Given the description of an element on the screen output the (x, y) to click on. 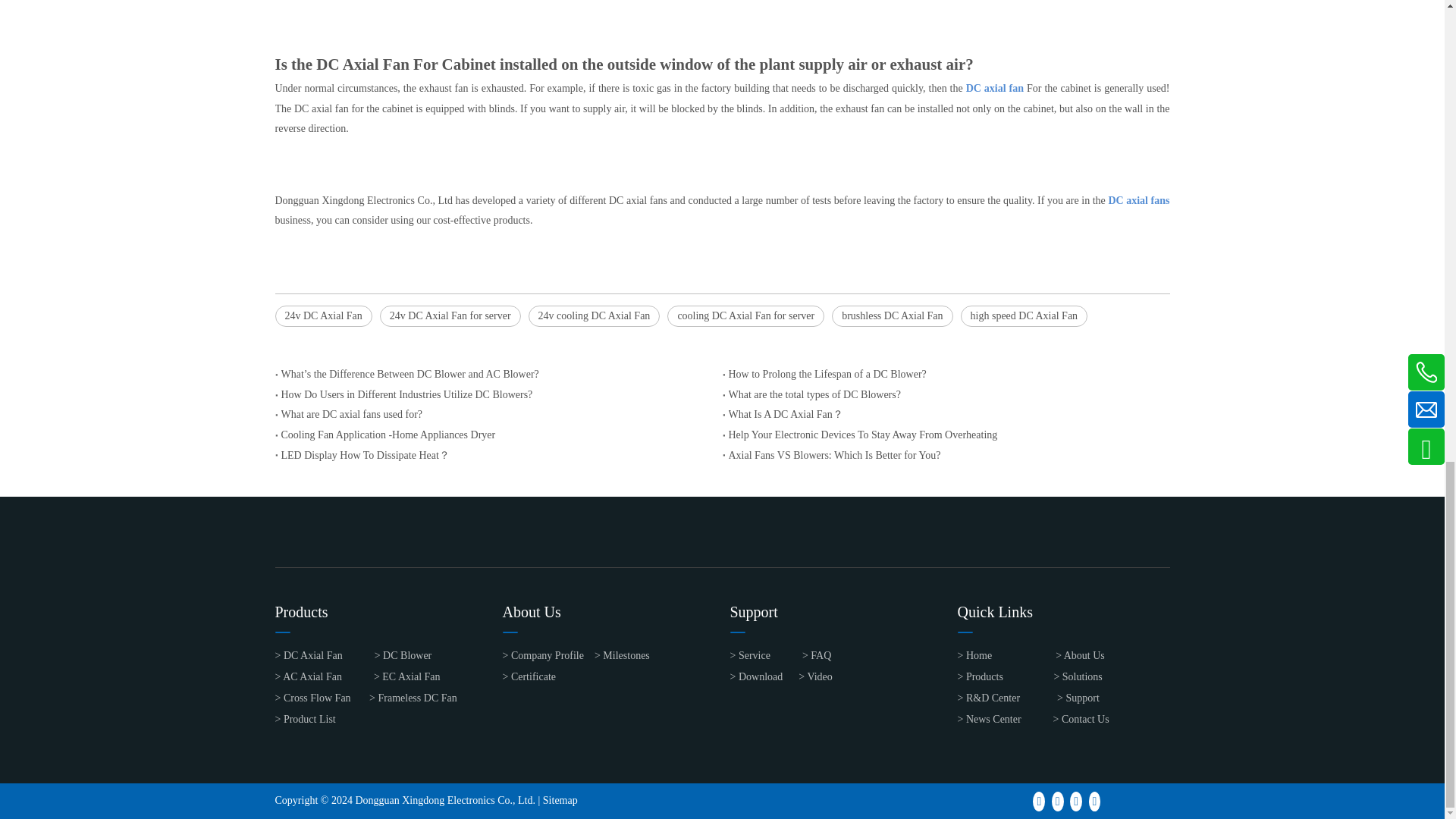
cooling DC Axial Fan for server (745, 316)
brushless DC Axial Fan (891, 316)
high speed DC Axial Fan (1023, 316)
24v cooling DC Axial Fan (594, 316)
How to Prolong the Lifespan of a DC Blower? (945, 374)
24v DC Axial Fan (323, 316)
24v DC Axial Fan for server (450, 316)
